Given the description of an element on the screen output the (x, y) to click on. 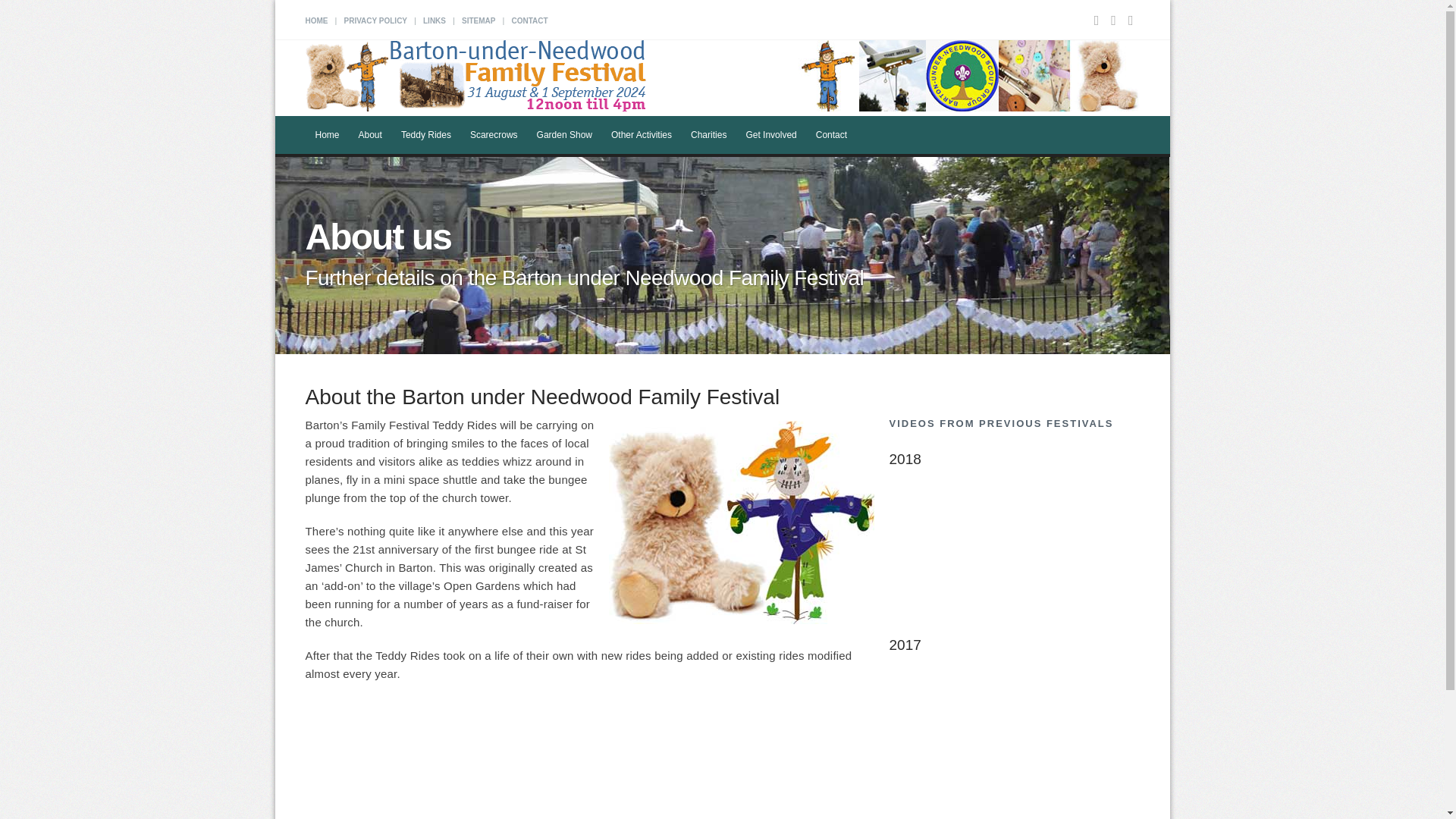
Scarecrows (494, 134)
HOME (315, 20)
Contact (831, 134)
Teddy Rides (426, 134)
About (370, 134)
Other Activities (641, 134)
Barton Family Festival 2018 (1013, 554)
Get Involved (771, 134)
Garden Show (564, 134)
SITEMAP (478, 20)
Home (326, 134)
LINKS (434, 20)
CONTACT (529, 20)
PRIVACY POLICY (375, 20)
2017 Festival V3 (1013, 738)
